Given the description of an element on the screen output the (x, y) to click on. 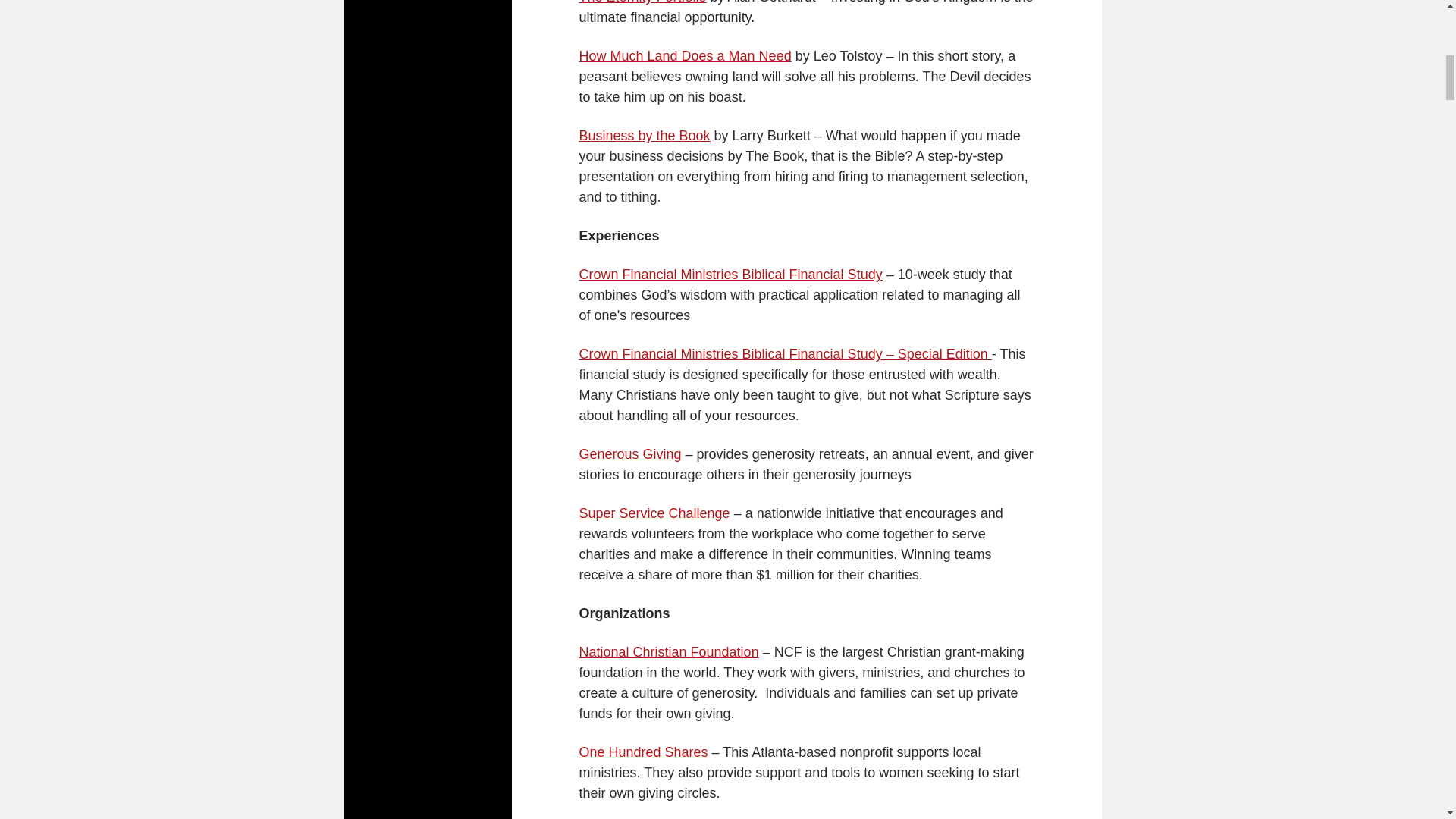
The Eternity Portfolio (642, 2)
Business by the Book (644, 135)
How Much Land Does a Man Need (685, 55)
Generous Giving (630, 453)
Crown Financial Ministries Biblical Financial Study (730, 273)
National Christian Foundation (668, 652)
Super Service Challenge (654, 513)
One Hundred Shares (643, 752)
